Given the description of an element on the screen output the (x, y) to click on. 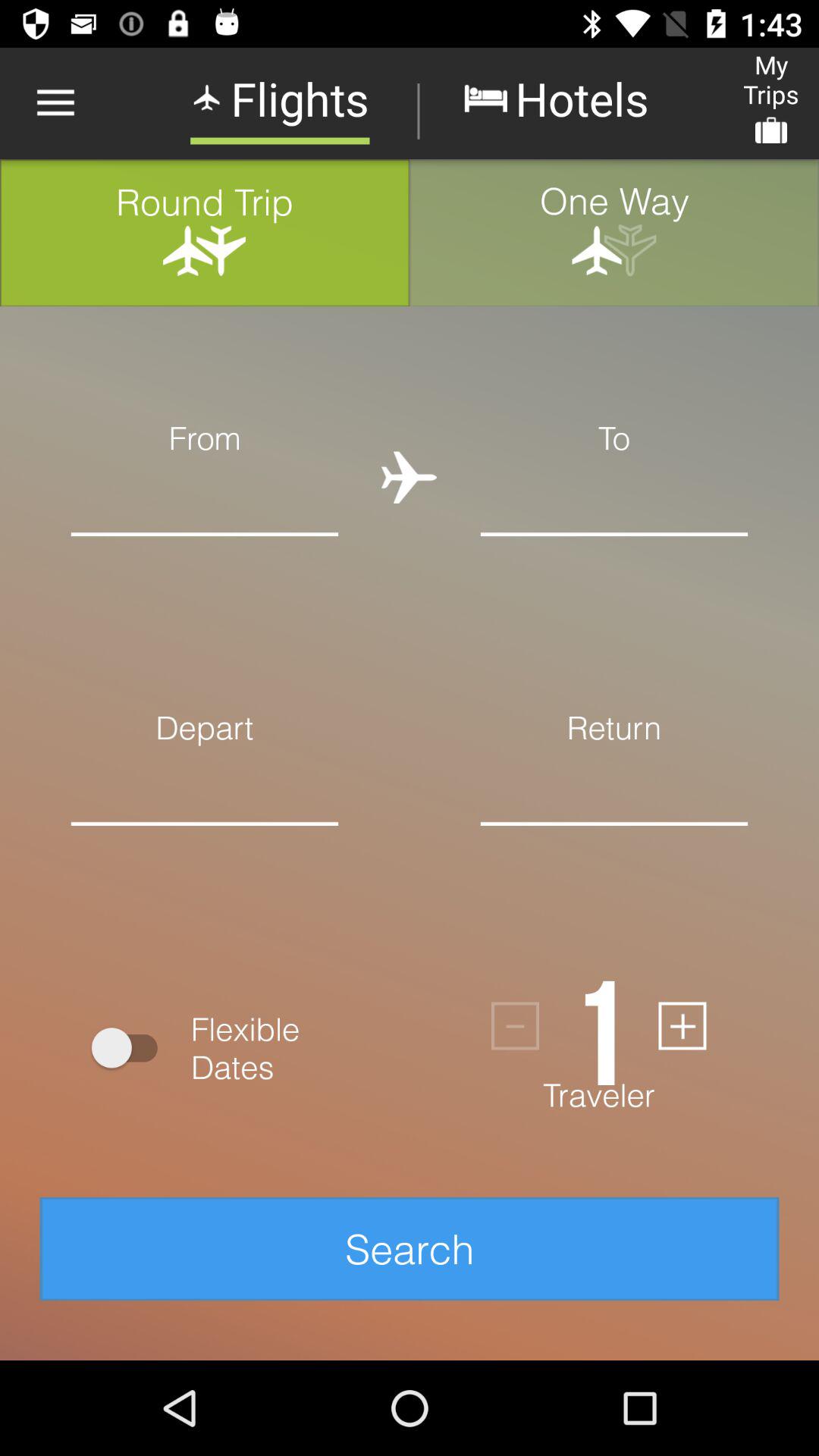
increase traveler number (682, 1025)
